Given the description of an element on the screen output the (x, y) to click on. 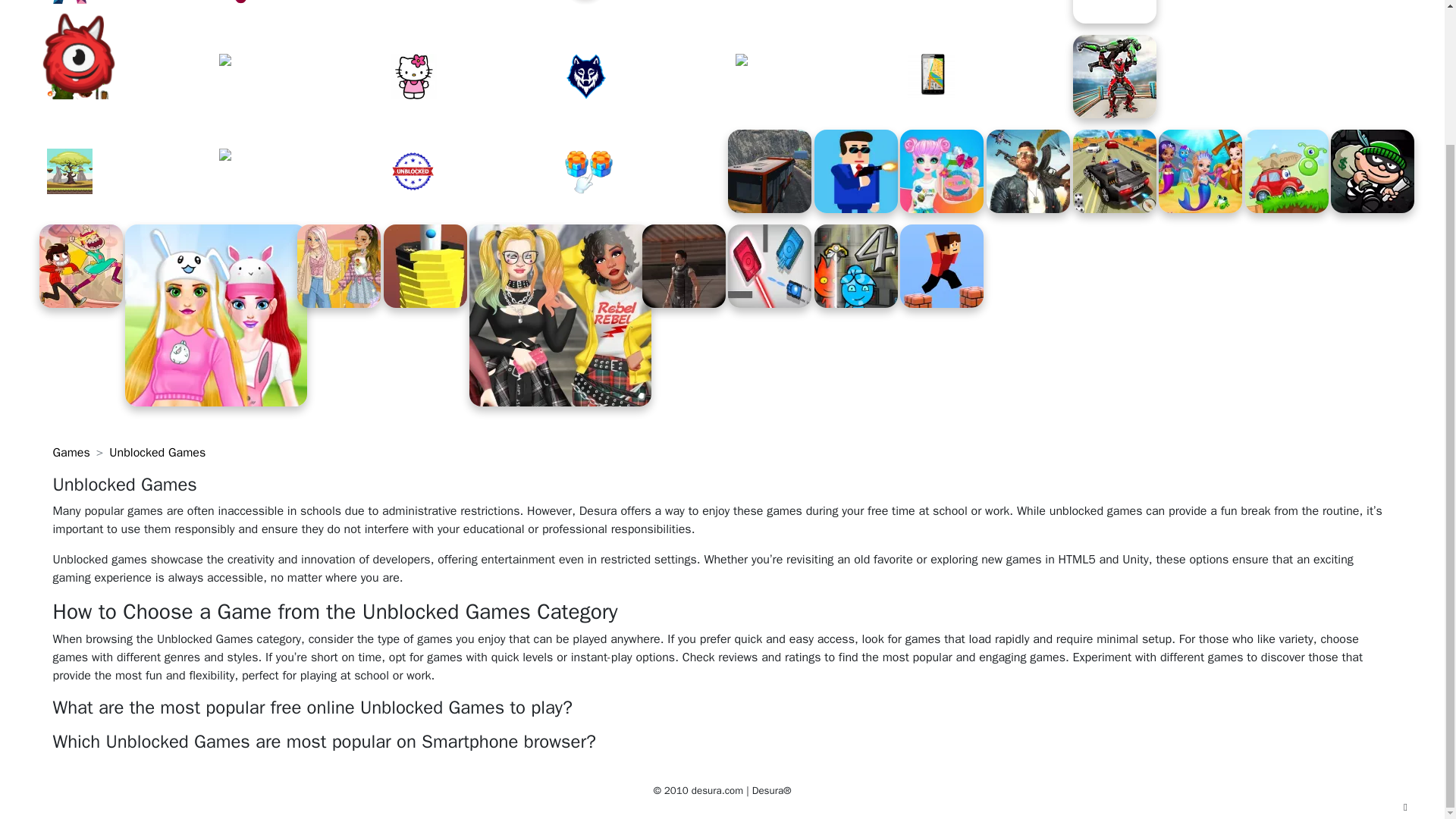
Hello Kitty Games (475, 76)
Side-Scrolling (130, 170)
Drifting Games (819, 76)
Addicting (475, 11)
Golf Games (990, 11)
Wolf Games (647, 76)
Yepi (302, 11)
Miniclip (647, 11)
Kizi (819, 11)
Advertisement (1291, 45)
Agame (130, 11)
2D Games (130, 76)
Mobile Games (990, 76)
Hair Games (302, 76)
